Given the description of an element on the screen output the (x, y) to click on. 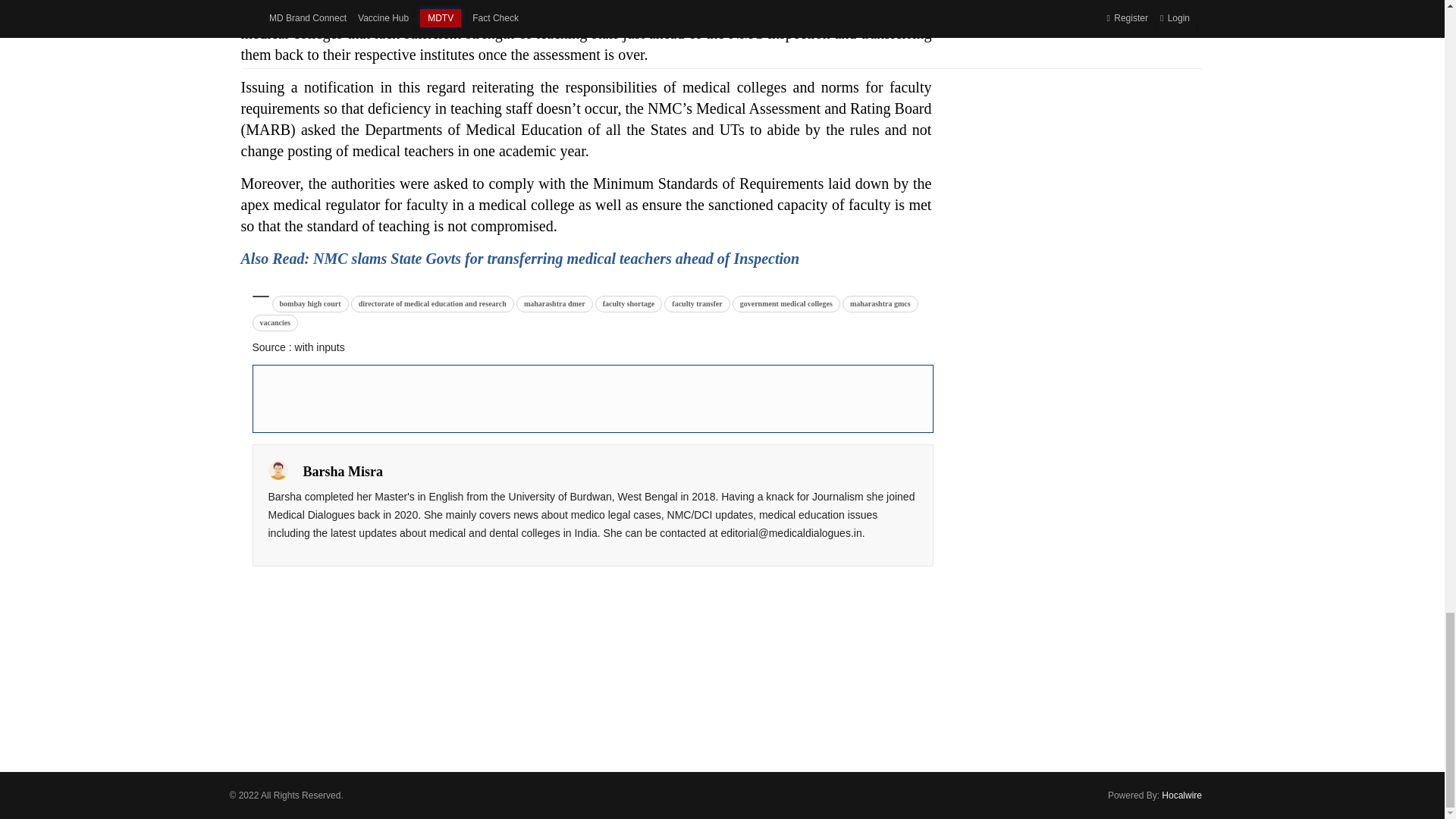
Barsha Misra (277, 469)
